Given the description of an element on the screen output the (x, y) to click on. 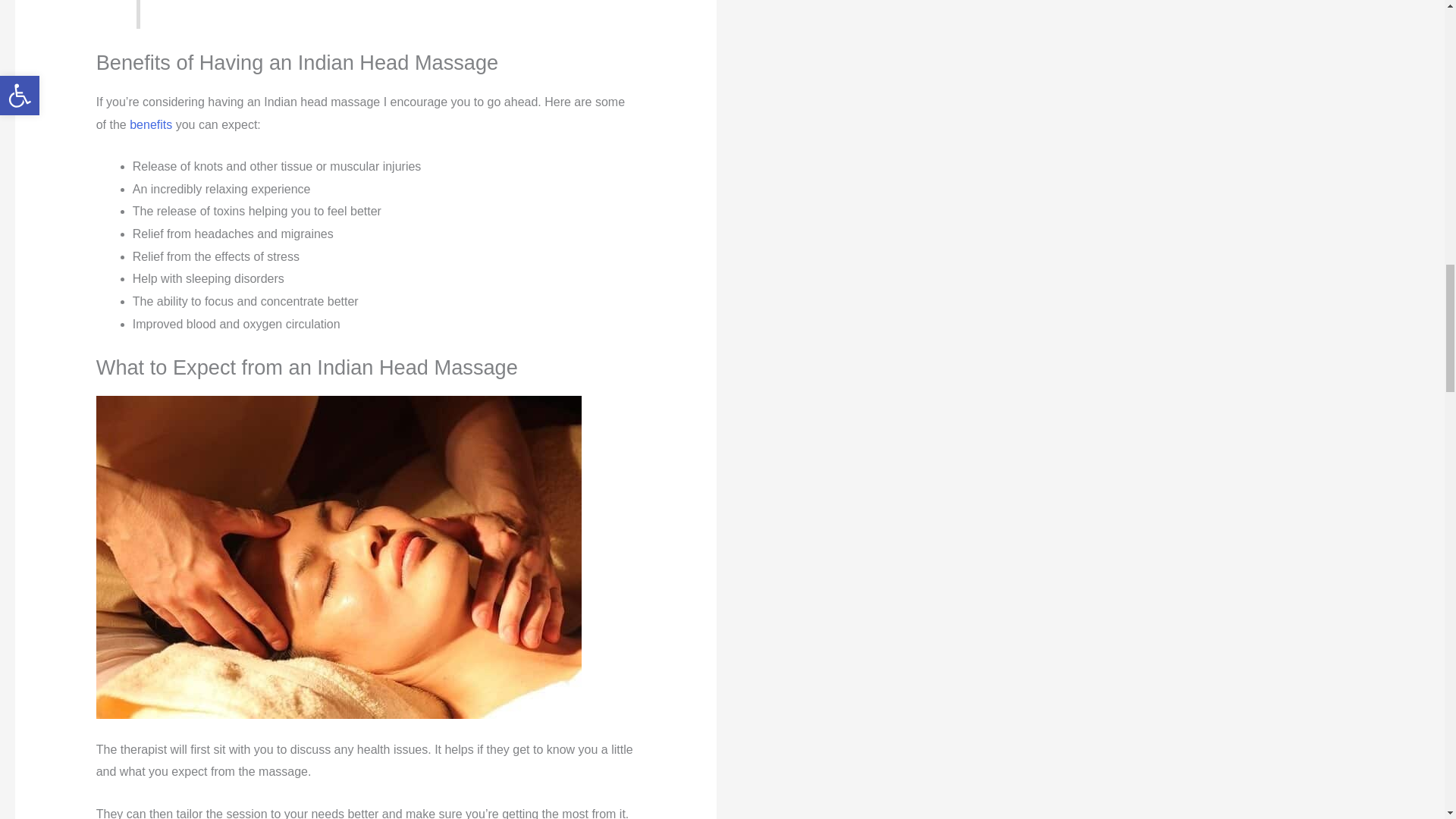
benefits (150, 124)
